Given the description of an element on the screen output the (x, y) to click on. 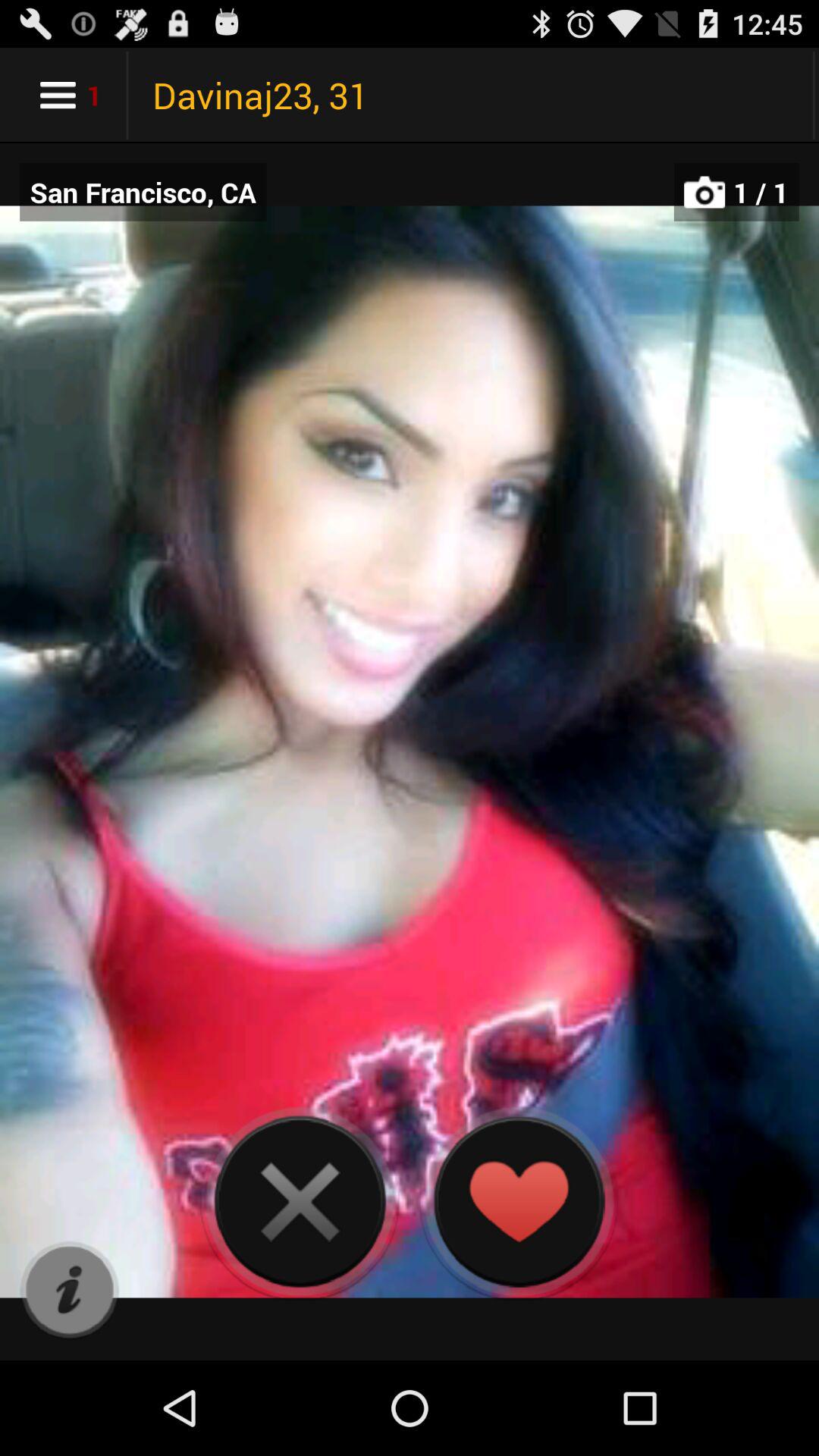
tap item at the bottom left corner (69, 1290)
